Given the description of an element on the screen output the (x, y) to click on. 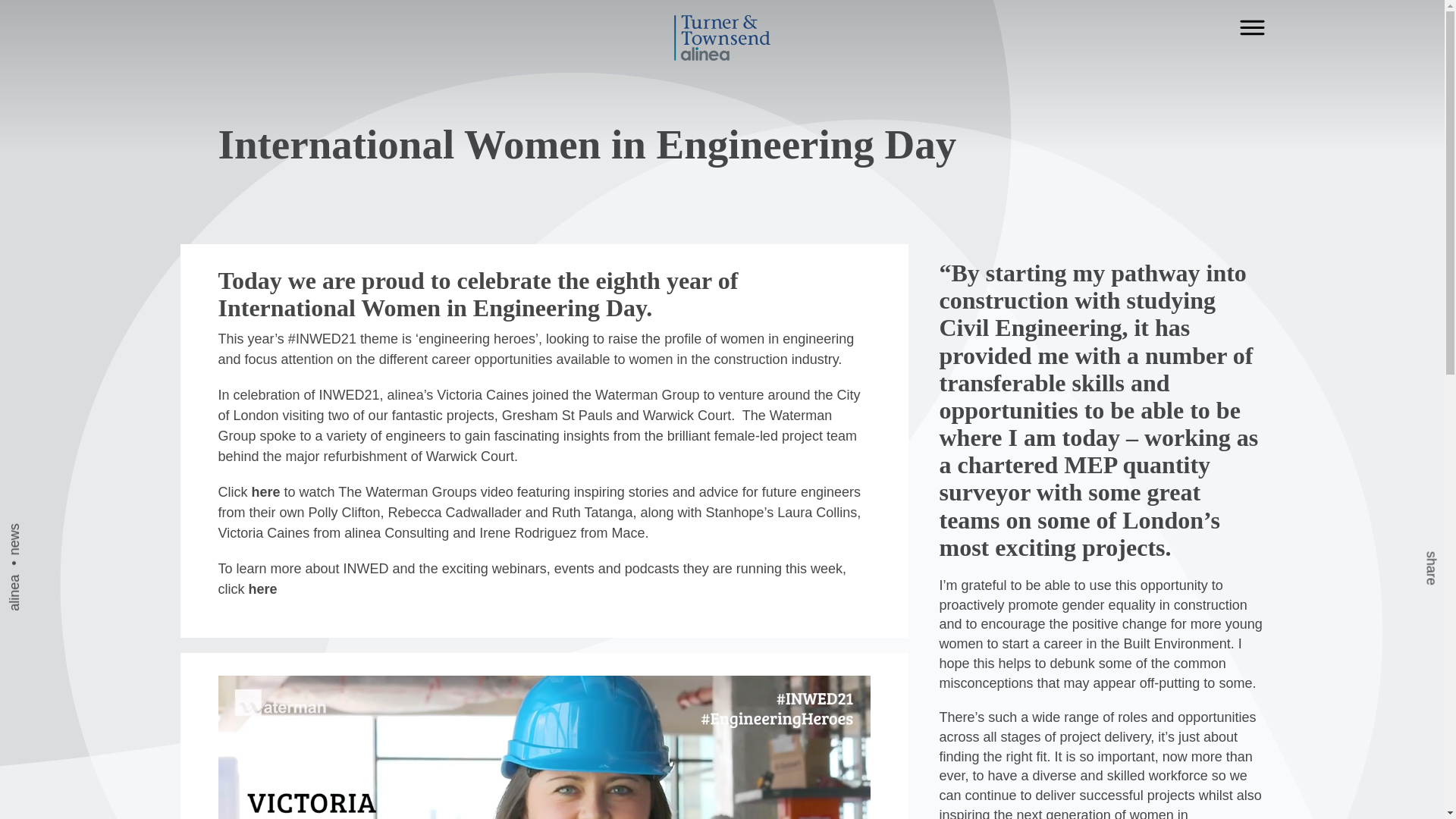
click here (248, 589)
alinea (22, 585)
here (266, 491)
alinea news (57, 157)
share (1308, 158)
